Given the description of an element on the screen output the (x, y) to click on. 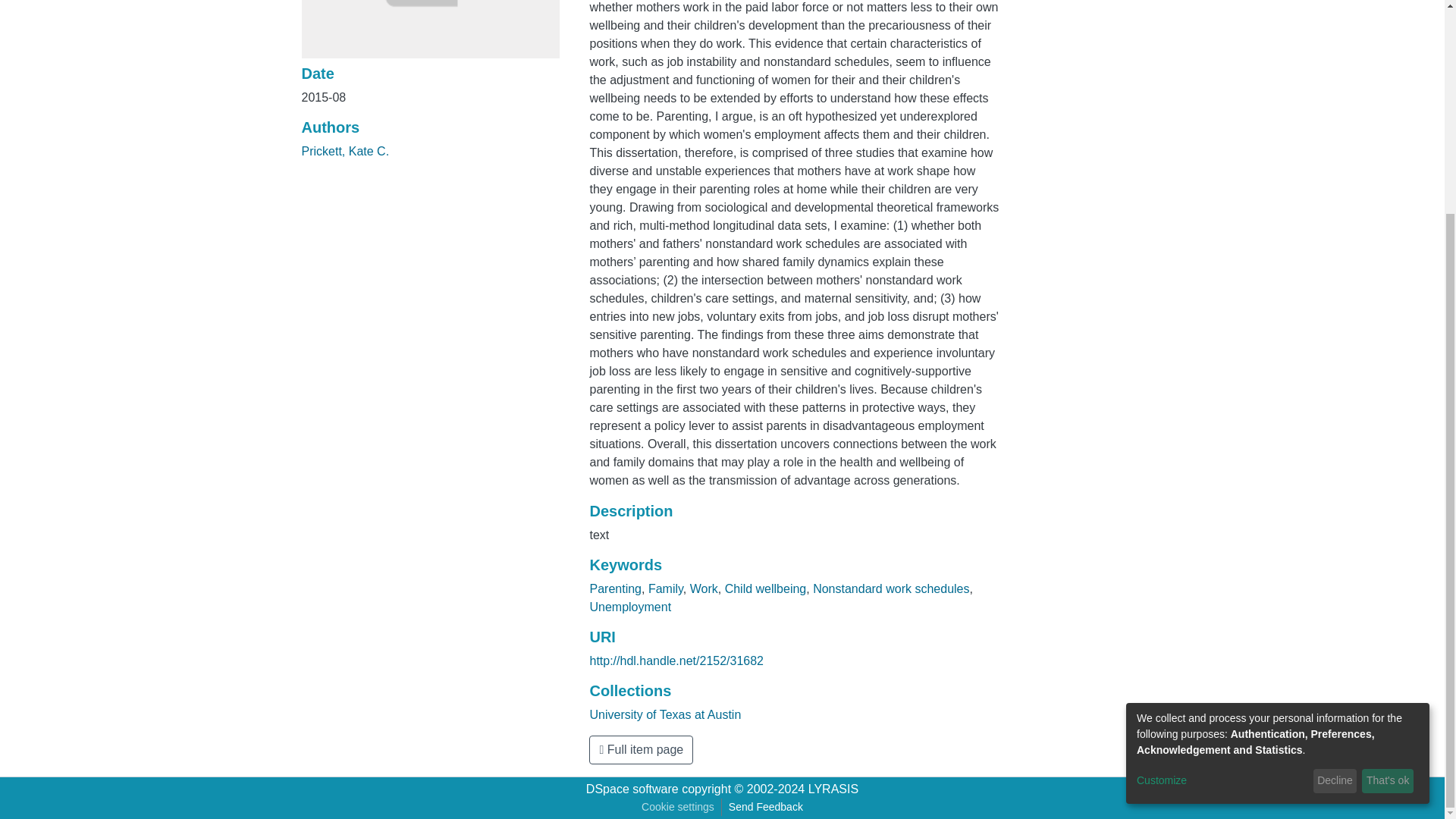
That's ok (1387, 501)
Child wellbeing (765, 588)
DSpace software (632, 788)
University of Texas at Austin (665, 714)
Unemployment (630, 606)
Prickett, Kate C. (345, 151)
Customize (1222, 501)
Parenting (615, 588)
Send Feedback (765, 806)
Family (664, 588)
LYRASIS (833, 788)
Decline (1334, 501)
Cookie settings (677, 806)
Work (703, 588)
Full item page (641, 749)
